Given the description of an element on the screen output the (x, y) to click on. 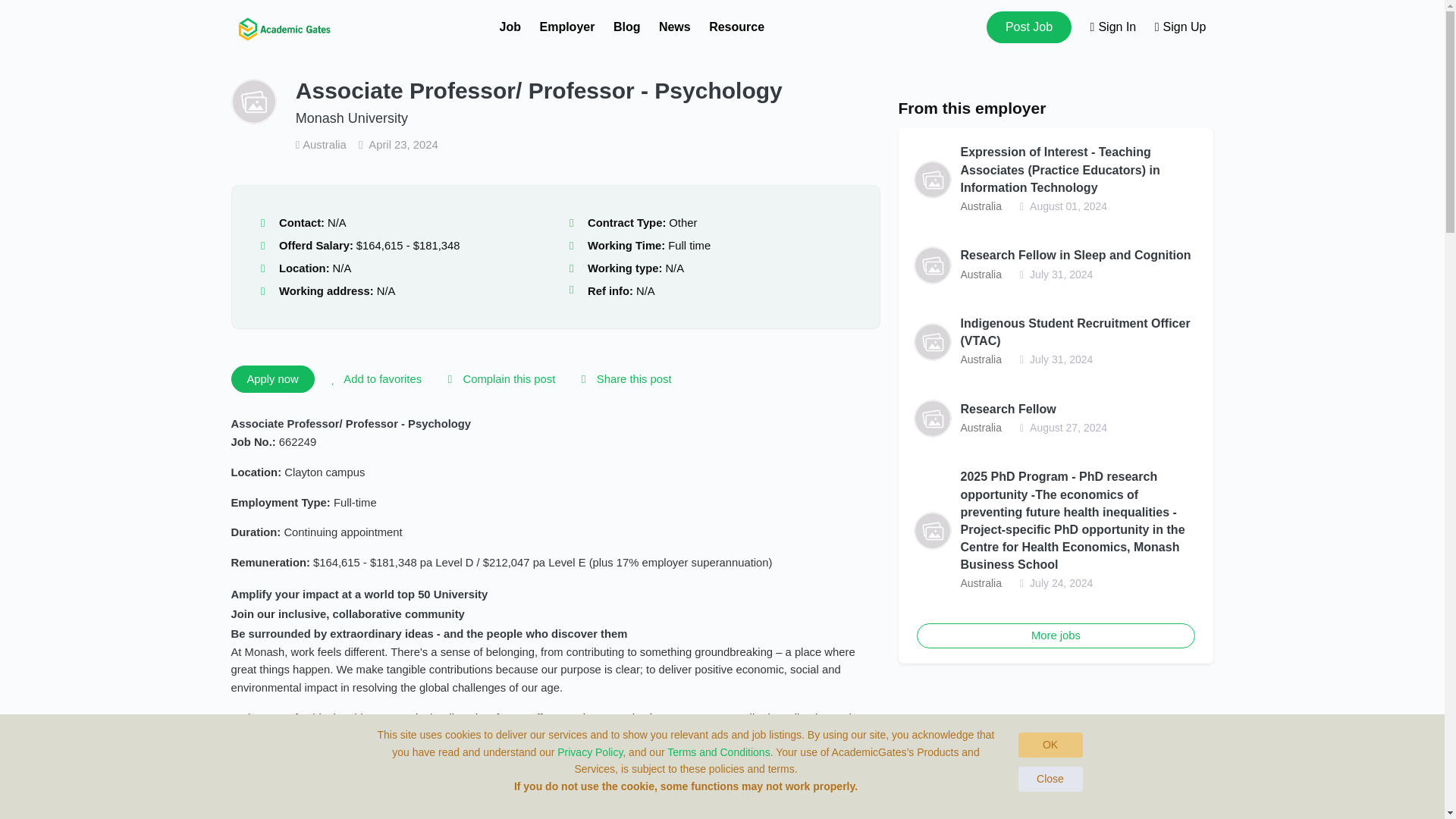
Add to favorites (374, 379)
Job (510, 26)
Monash University (351, 118)
Advertisement (1055, 751)
Sign In (1113, 26)
Blog (626, 26)
Share this post (623, 379)
News (674, 26)
Complain this post (498, 379)
Sign Up (1180, 26)
Employer (567, 26)
Post Job (1029, 27)
Resource (736, 26)
Apply now (272, 379)
Australia (322, 144)
